Given the description of an element on the screen output the (x, y) to click on. 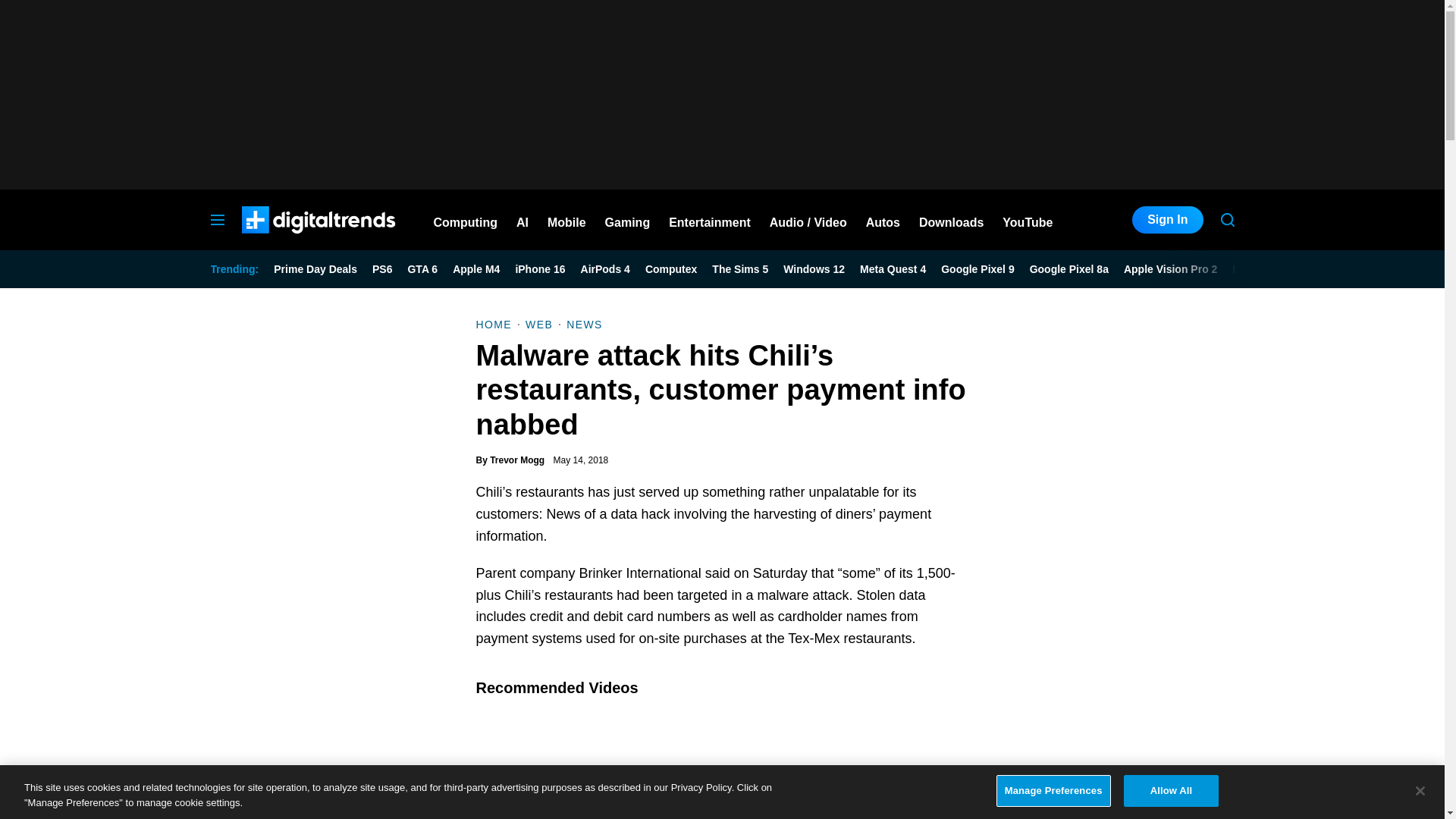
Downloads (951, 219)
Entertainment (709, 219)
Computing (465, 219)
Sign In (1167, 219)
